Given the description of an element on the screen output the (x, y) to click on. 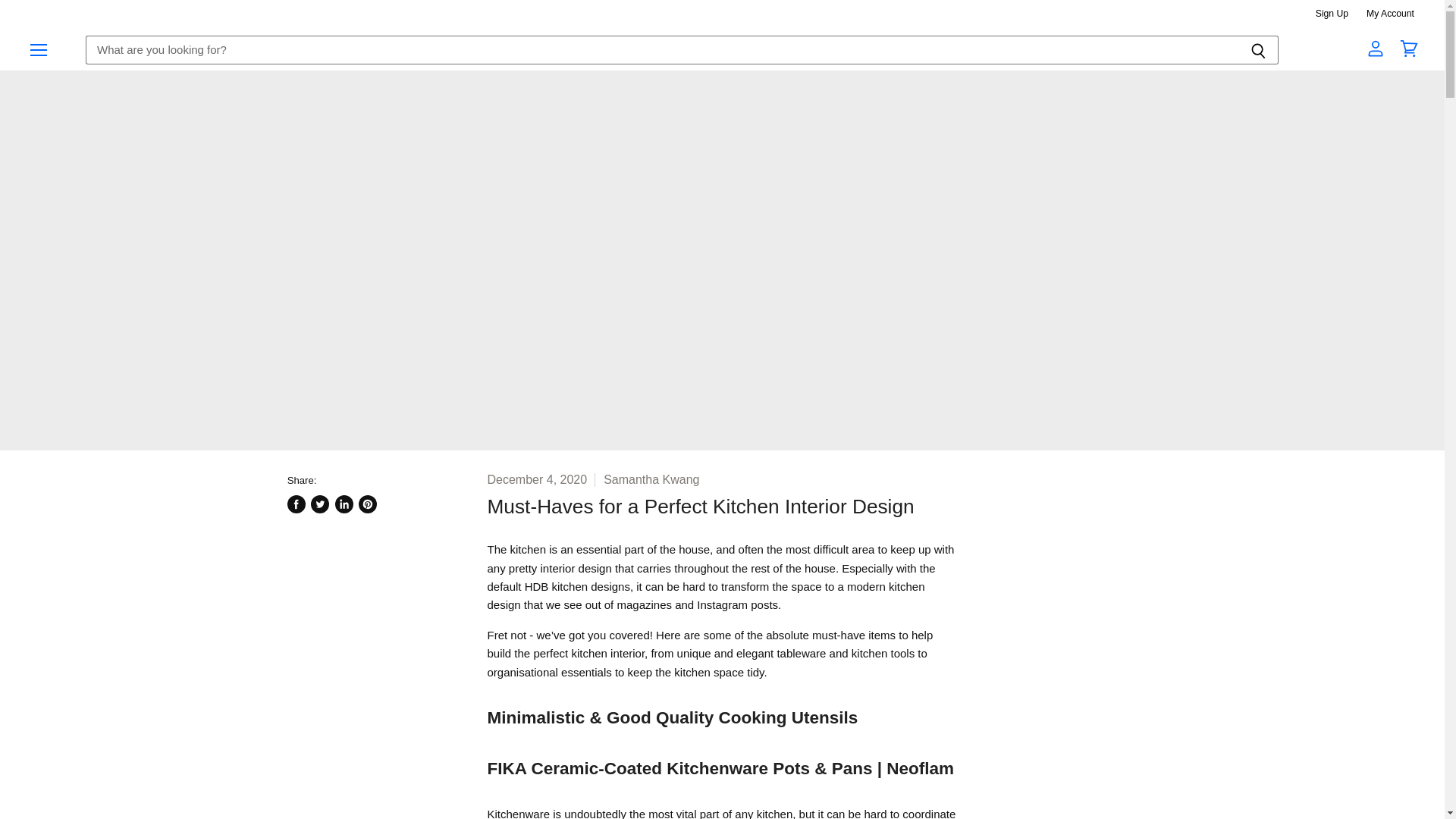
Menu (39, 48)
Sign Up (1332, 13)
My Account (1390, 13)
